Given the description of an element on the screen output the (x, y) to click on. 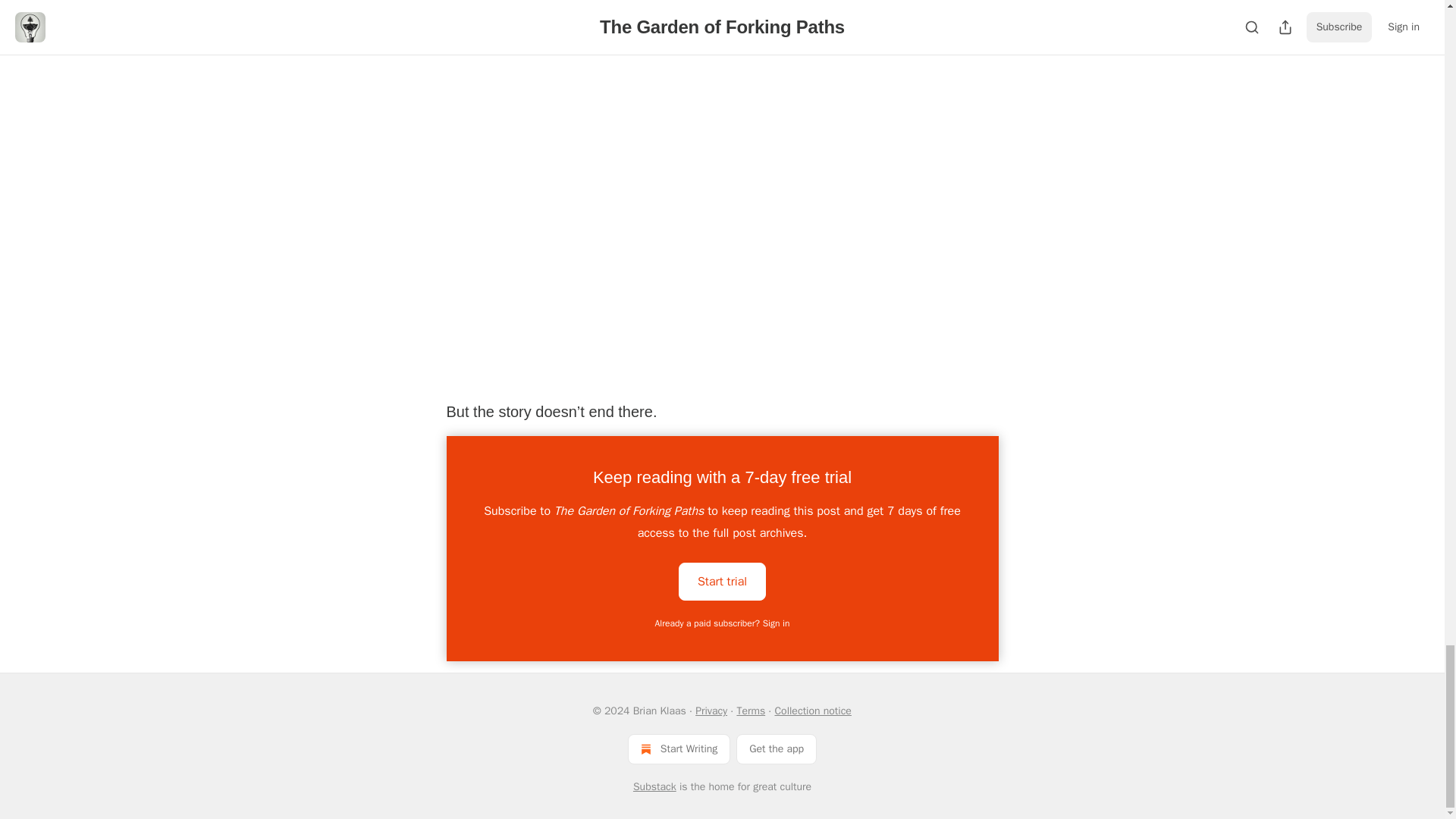
Privacy (710, 710)
Terms (750, 710)
Collection notice (812, 710)
Already a paid subscriber? Sign in (722, 623)
Start trial (721, 579)
Start trial (721, 581)
